Given the description of an element on the screen output the (x, y) to click on. 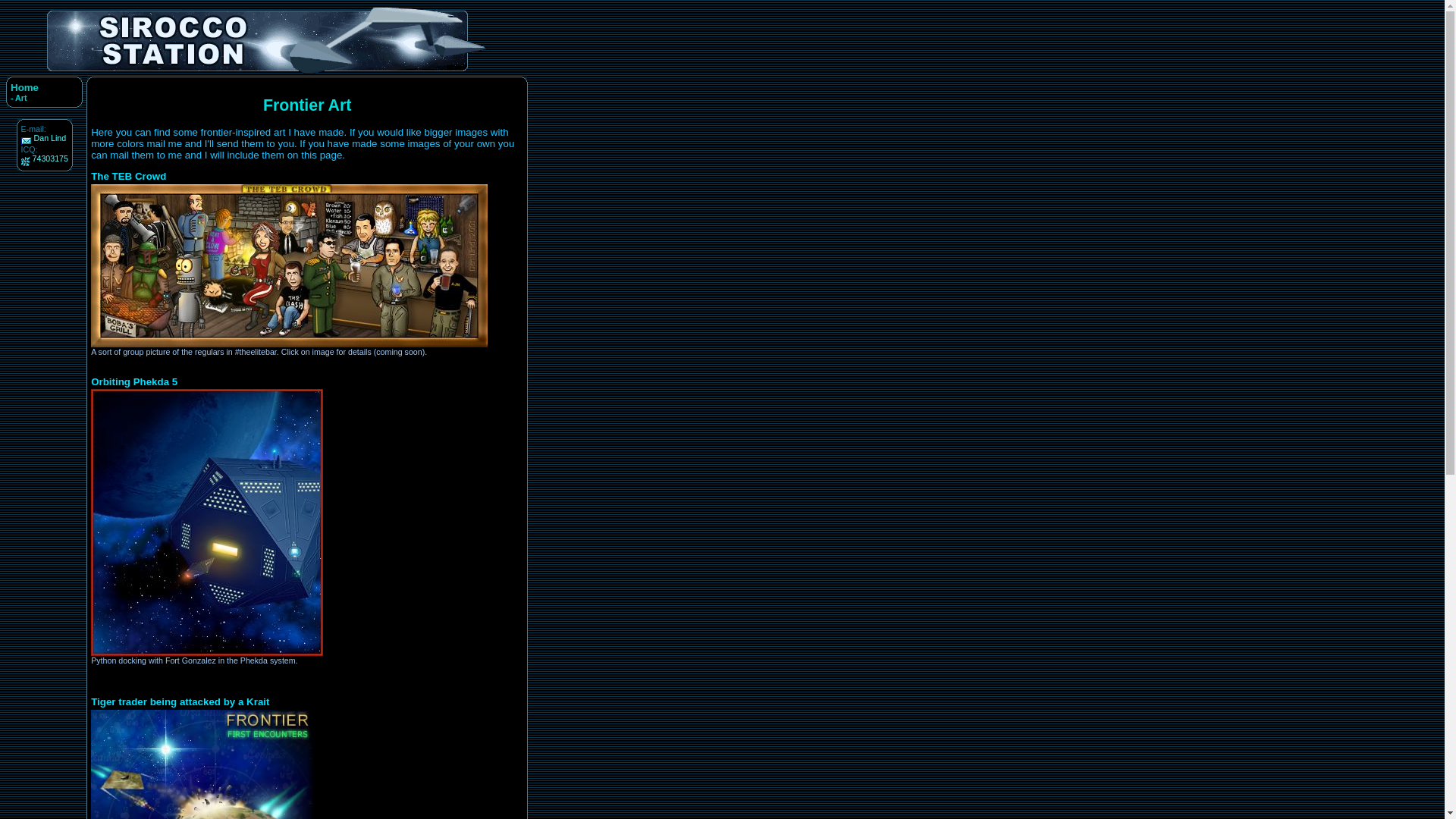
74303175 (50, 157)
Dan Lind (49, 137)
Home (24, 87)
- Art (18, 97)
